Given the description of an element on the screen output the (x, y) to click on. 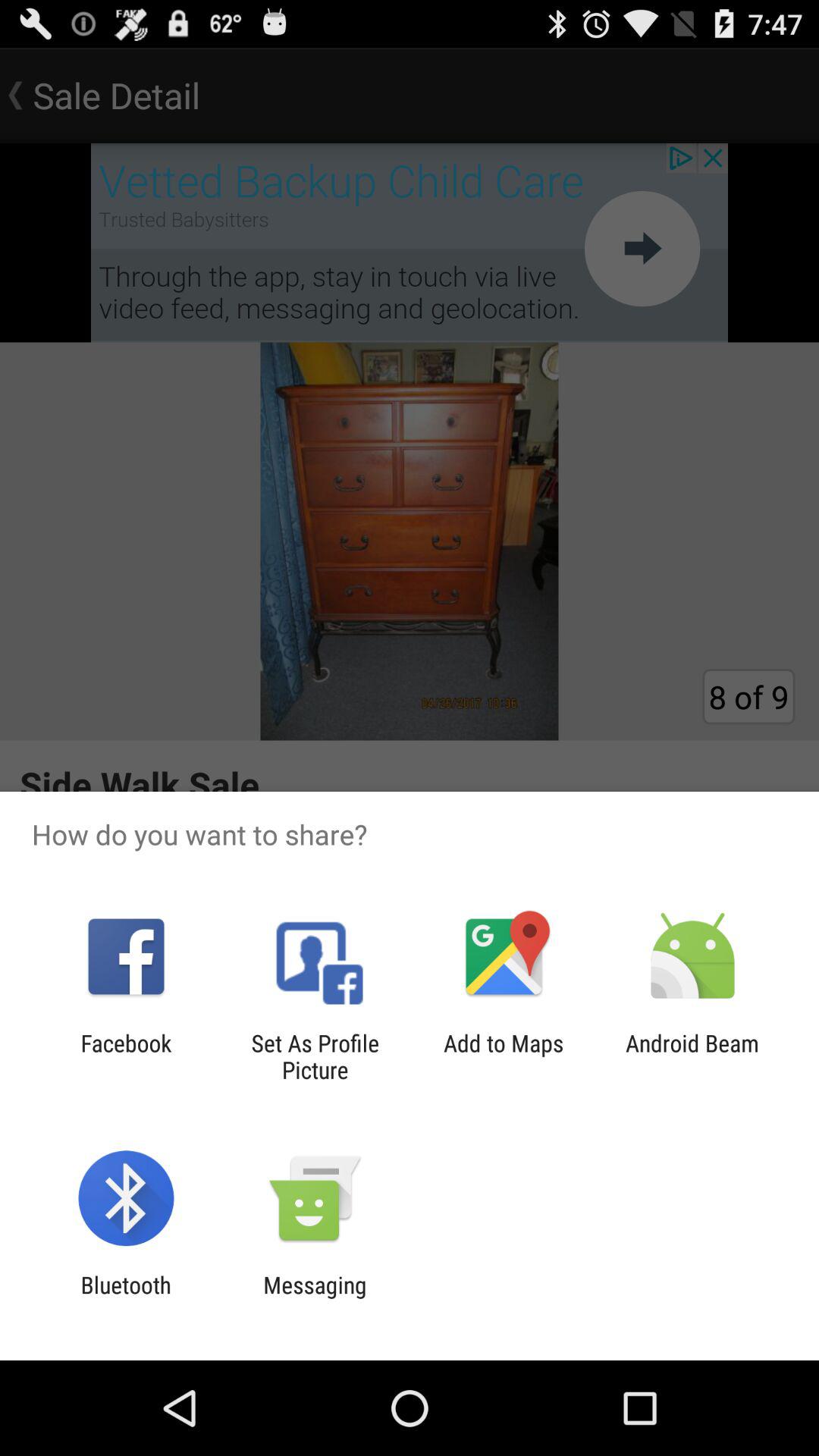
select the android beam app (692, 1056)
